Given the description of an element on the screen output the (x, y) to click on. 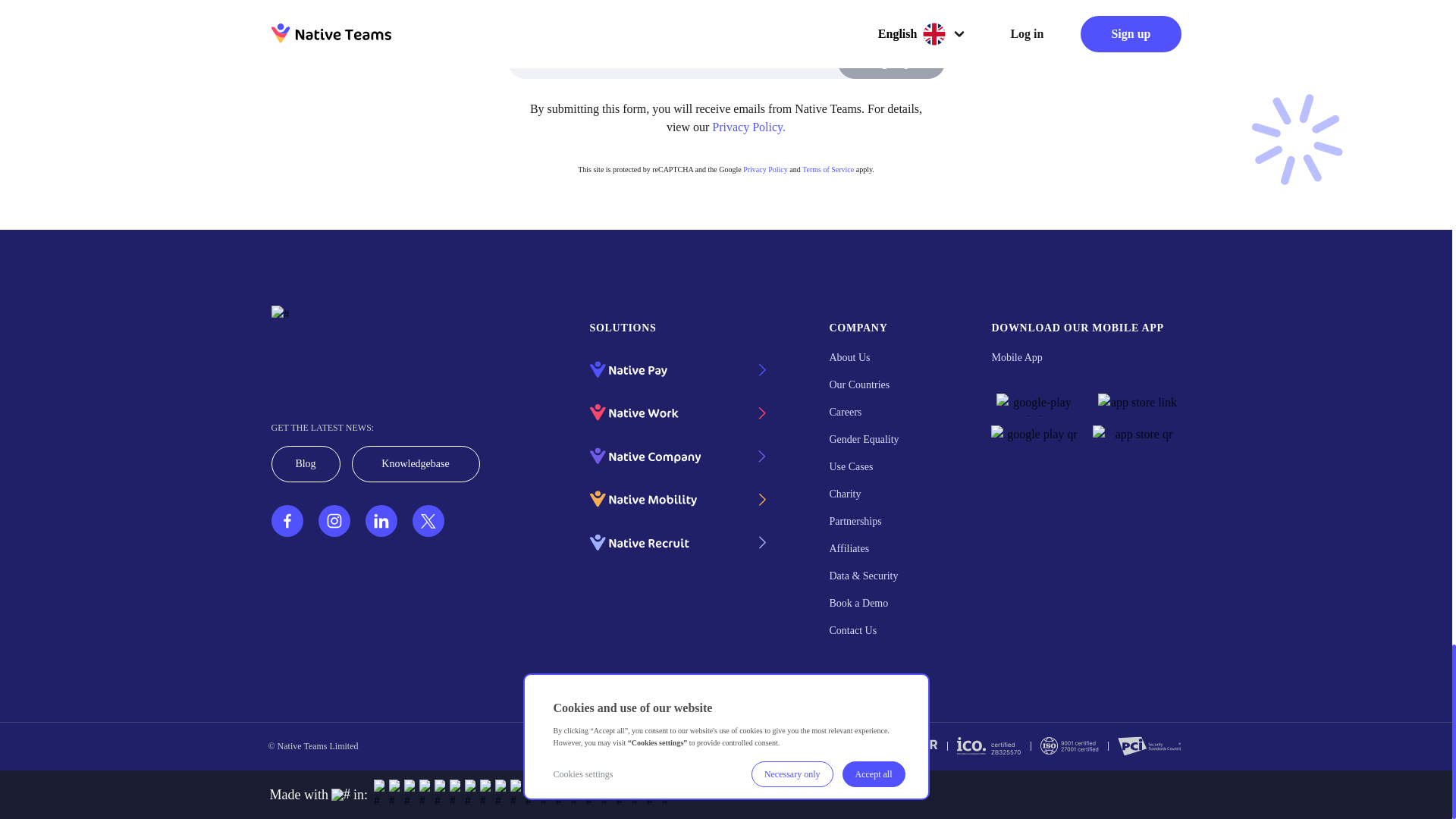
Privacy Policy. (748, 126)
Blog (305, 463)
Sign up (890, 61)
Privacy Policy (764, 169)
Knowledgebase (416, 463)
Terms of Service (827, 169)
